Given the description of an element on the screen output the (x, y) to click on. 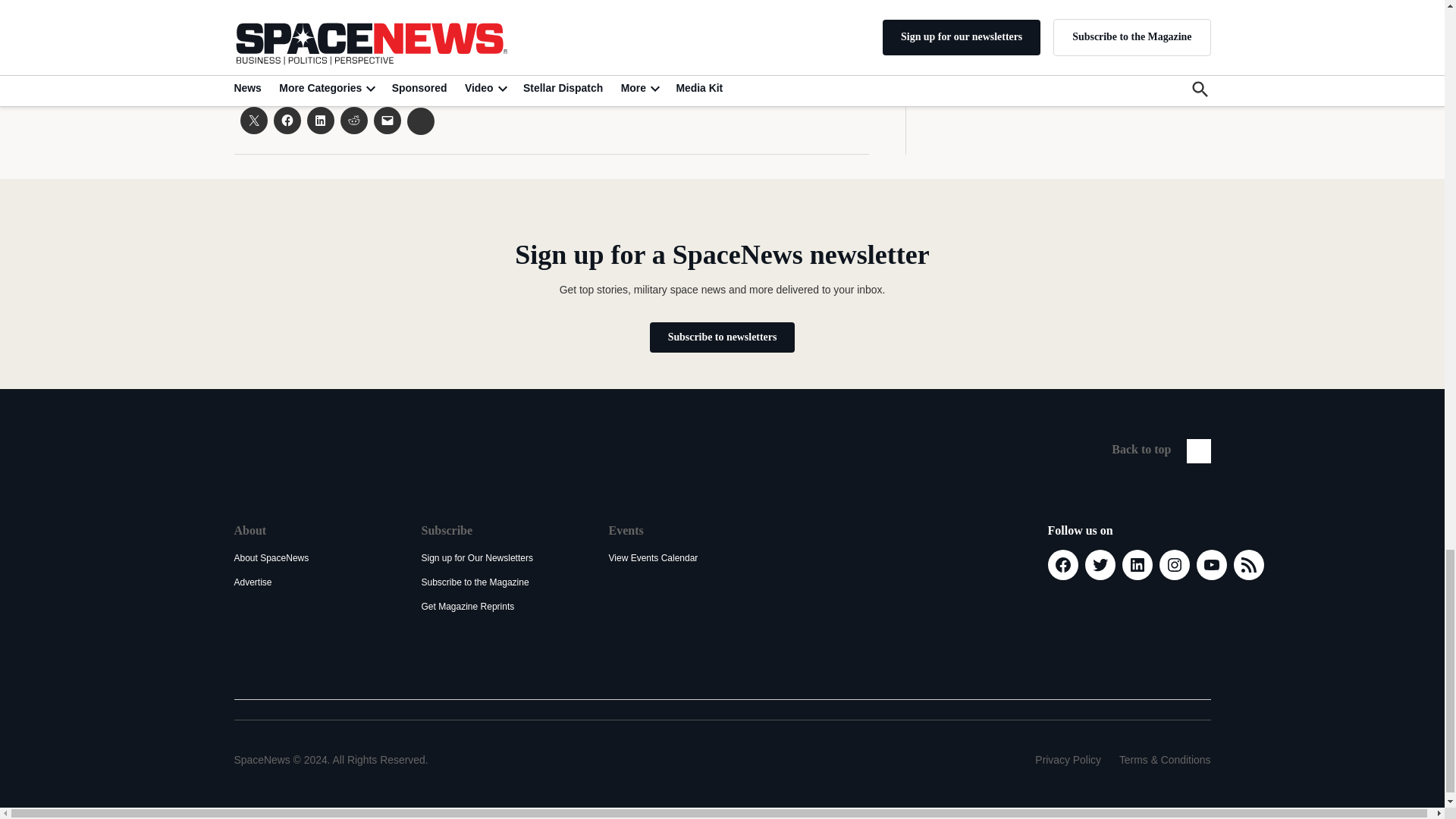
Click to share on X (253, 120)
Click to email a link to a friend (386, 120)
Click to share on Facebook (286, 120)
Click to share on LinkedIn (319, 120)
Click to share on Reddit (352, 120)
Click to share on Clipboard (419, 121)
